Given the description of an element on the screen output the (x, y) to click on. 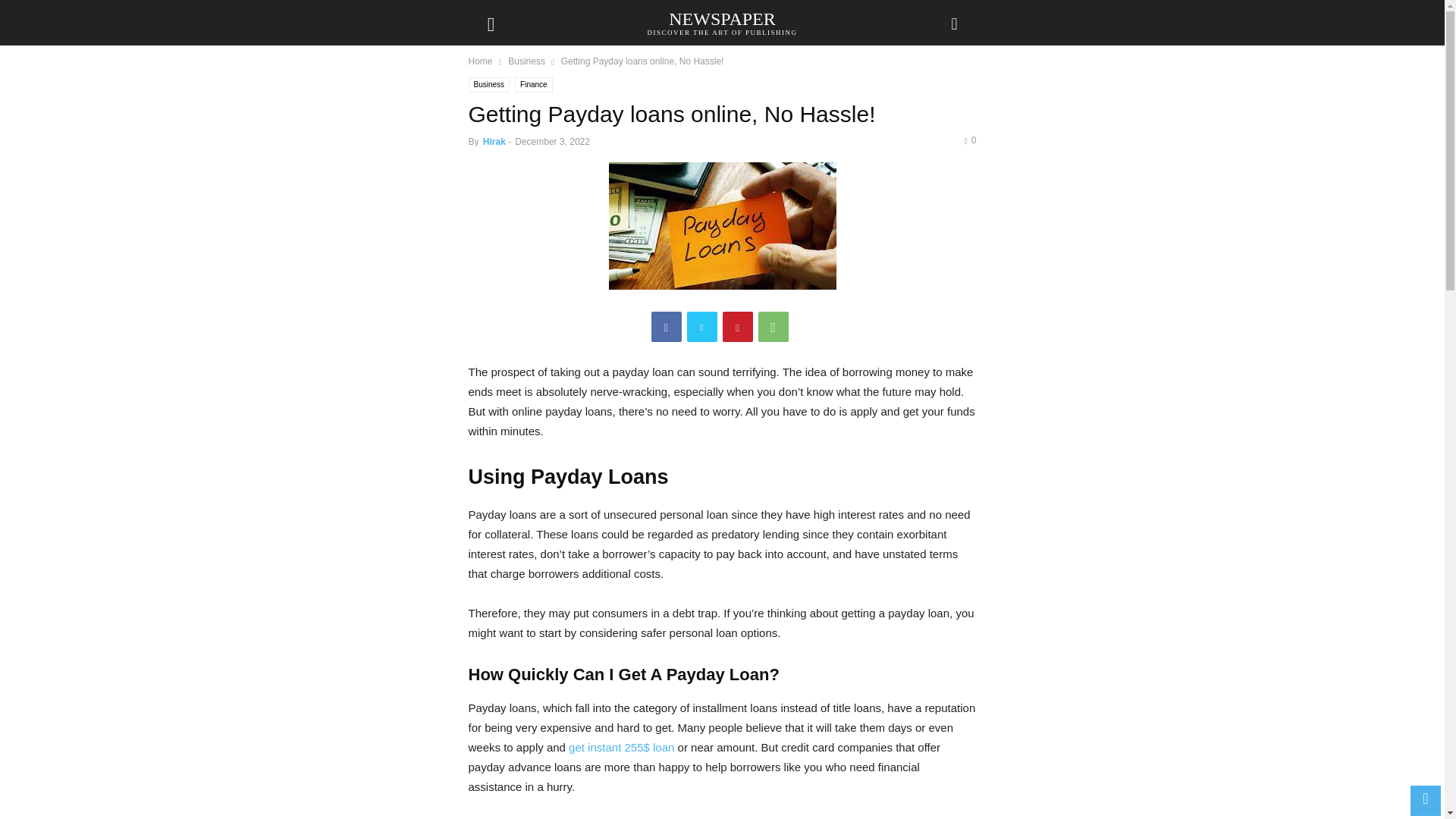
WhatsApp (721, 22)
Facebook (773, 327)
Pinterest (665, 327)
0 (737, 327)
View all posts in Business (969, 140)
Finance (526, 61)
Business (534, 84)
Business (489, 84)
Twitter (526, 61)
